Given the description of an element on the screen output the (x, y) to click on. 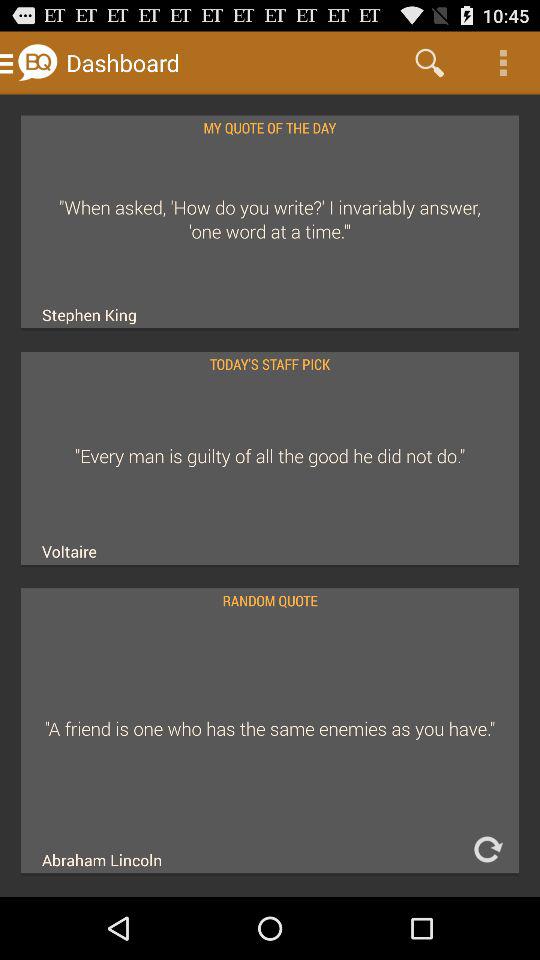
select next (487, 849)
